Given the description of an element on the screen output the (x, y) to click on. 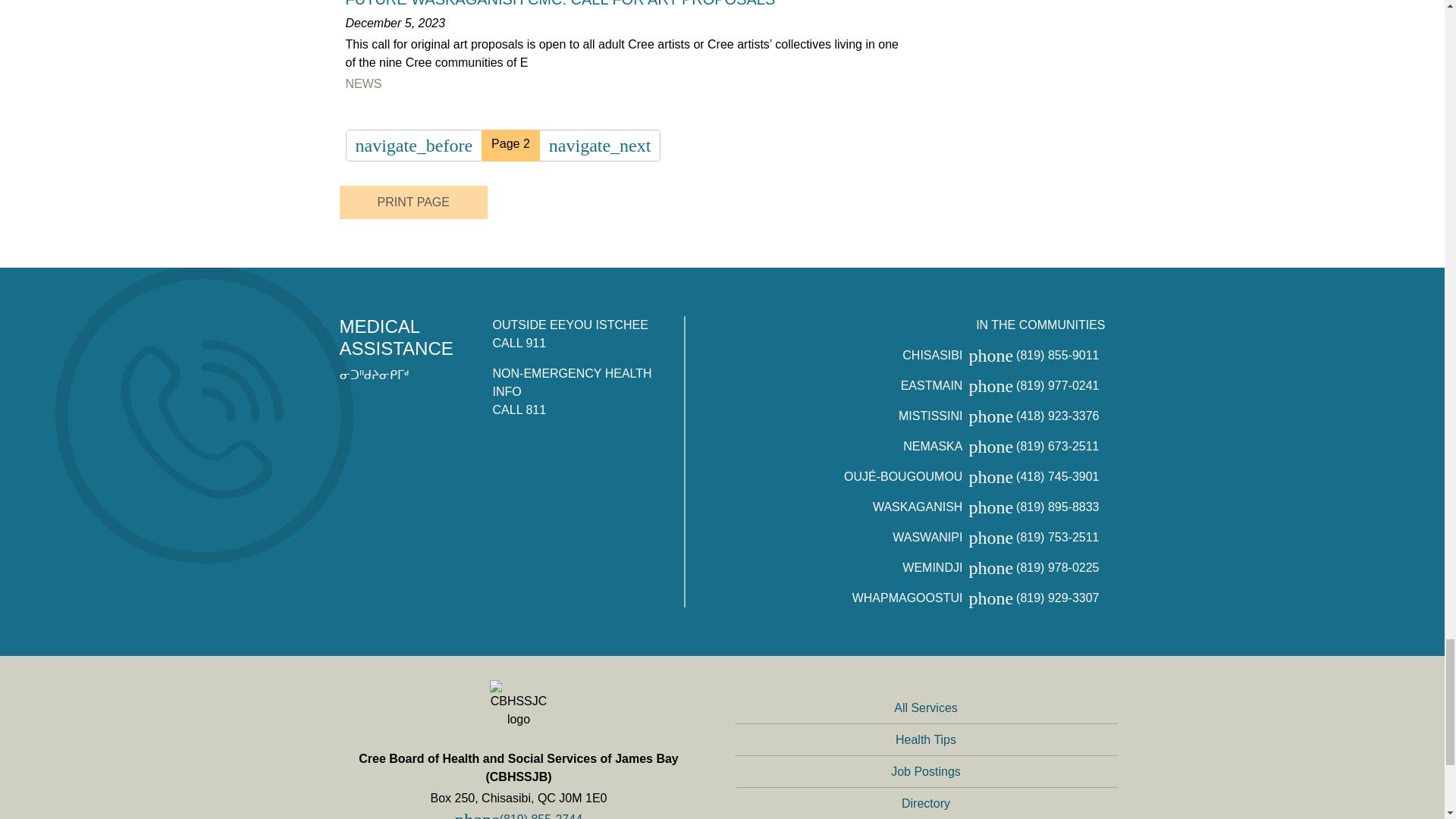
Go to next page (599, 145)
Health tips (925, 739)
All services for clients offered by CBHSSJB  (925, 707)
Go to previous page (414, 145)
